Given the description of an element on the screen output the (x, y) to click on. 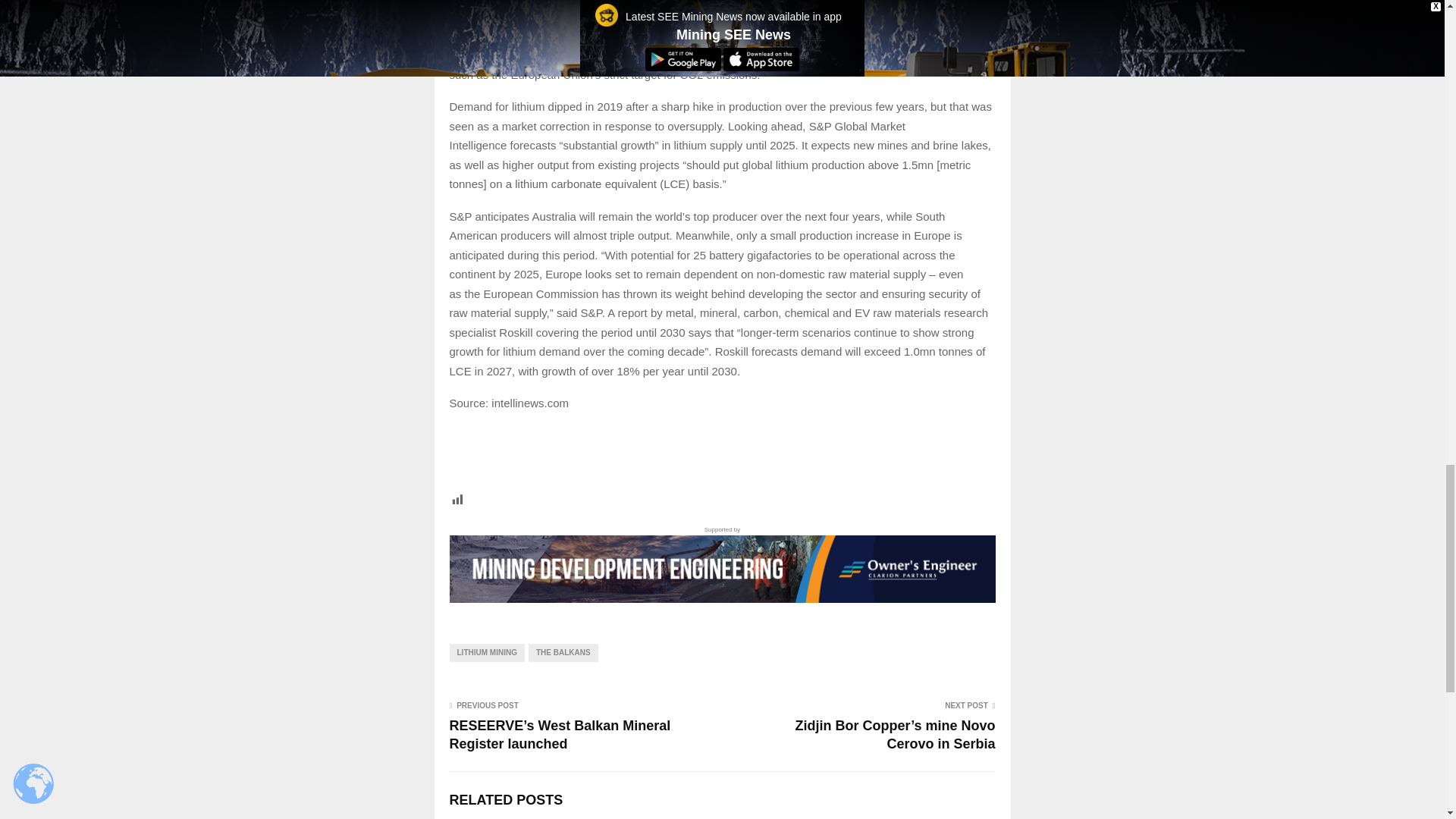
THE BALKANS (563, 652)
LITHIUM MINING (486, 652)
Supported by (721, 563)
